Given the description of an element on the screen output the (x, y) to click on. 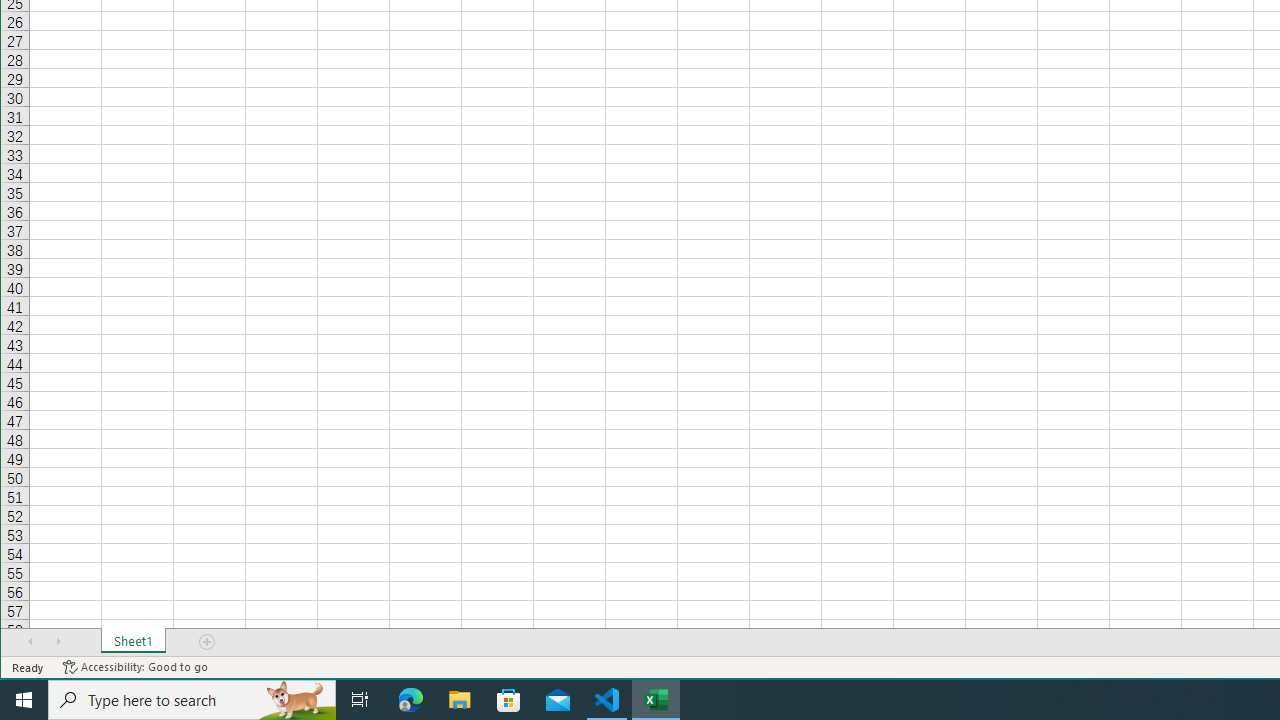
Excel - 1 running window (656, 699)
